Given the description of an element on the screen output the (x, y) to click on. 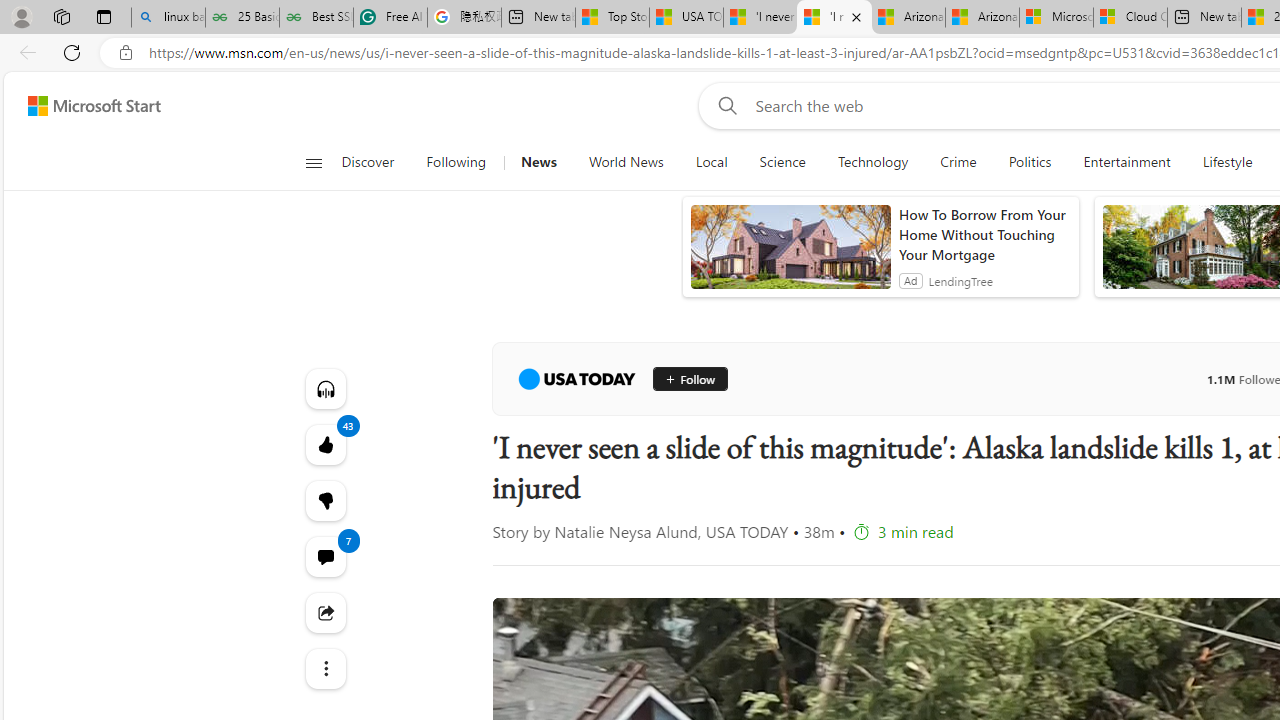
Class: button-glyph (313, 162)
Best SSL Certificates Provider in India - GeeksforGeeks (316, 17)
43 (324, 500)
Class: at-item (324, 668)
